Given the description of an element on the screen output the (x, y) to click on. 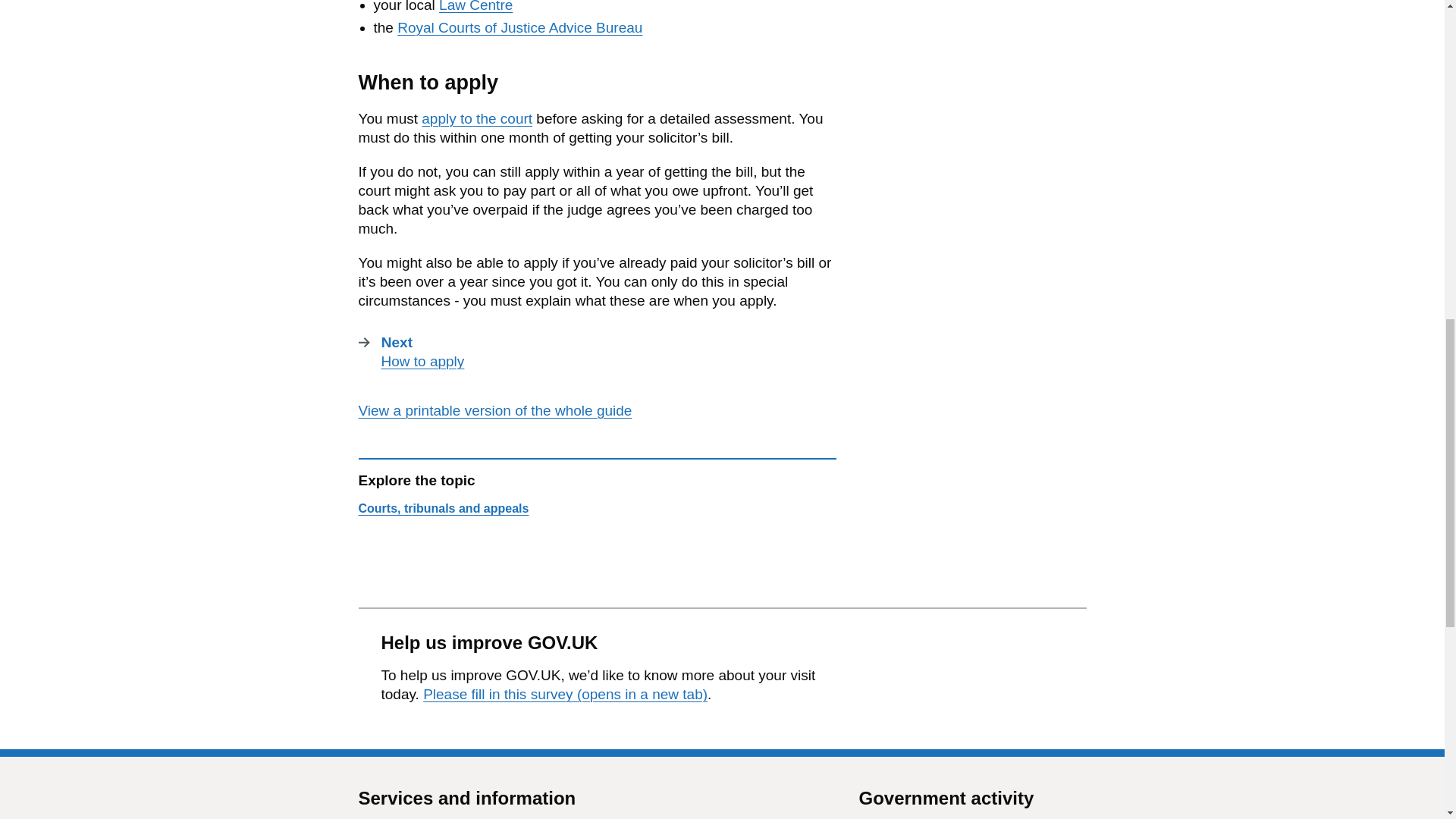
View a printable version of the whole guide (494, 410)
Royal Courts of Justice Advice Bureau (591, 351)
Courts, tribunals and appeals (519, 27)
apply to the court (443, 508)
Law Centre (477, 118)
